Given the description of an element on the screen output the (x, y) to click on. 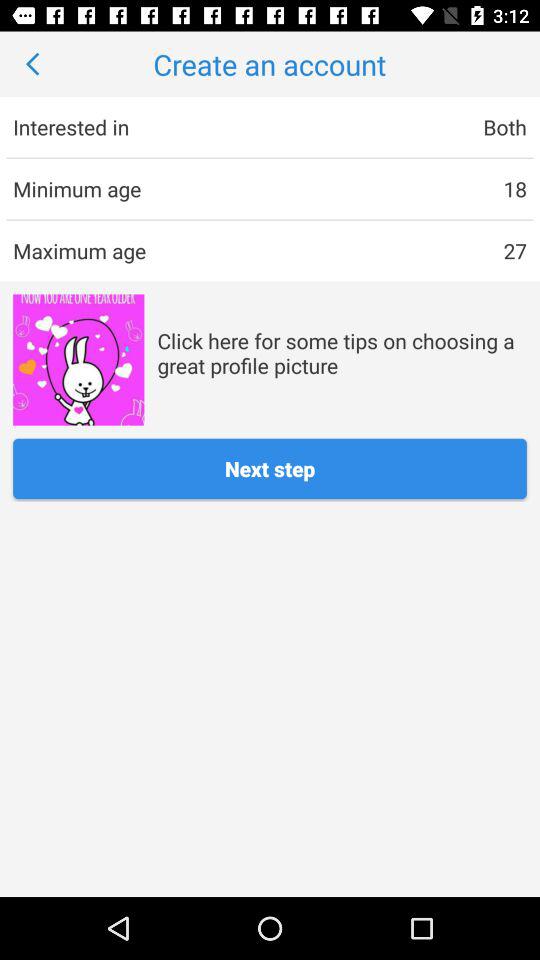
turn on the item to the left of click here for icon (78, 359)
